Given the description of an element on the screen output the (x, y) to click on. 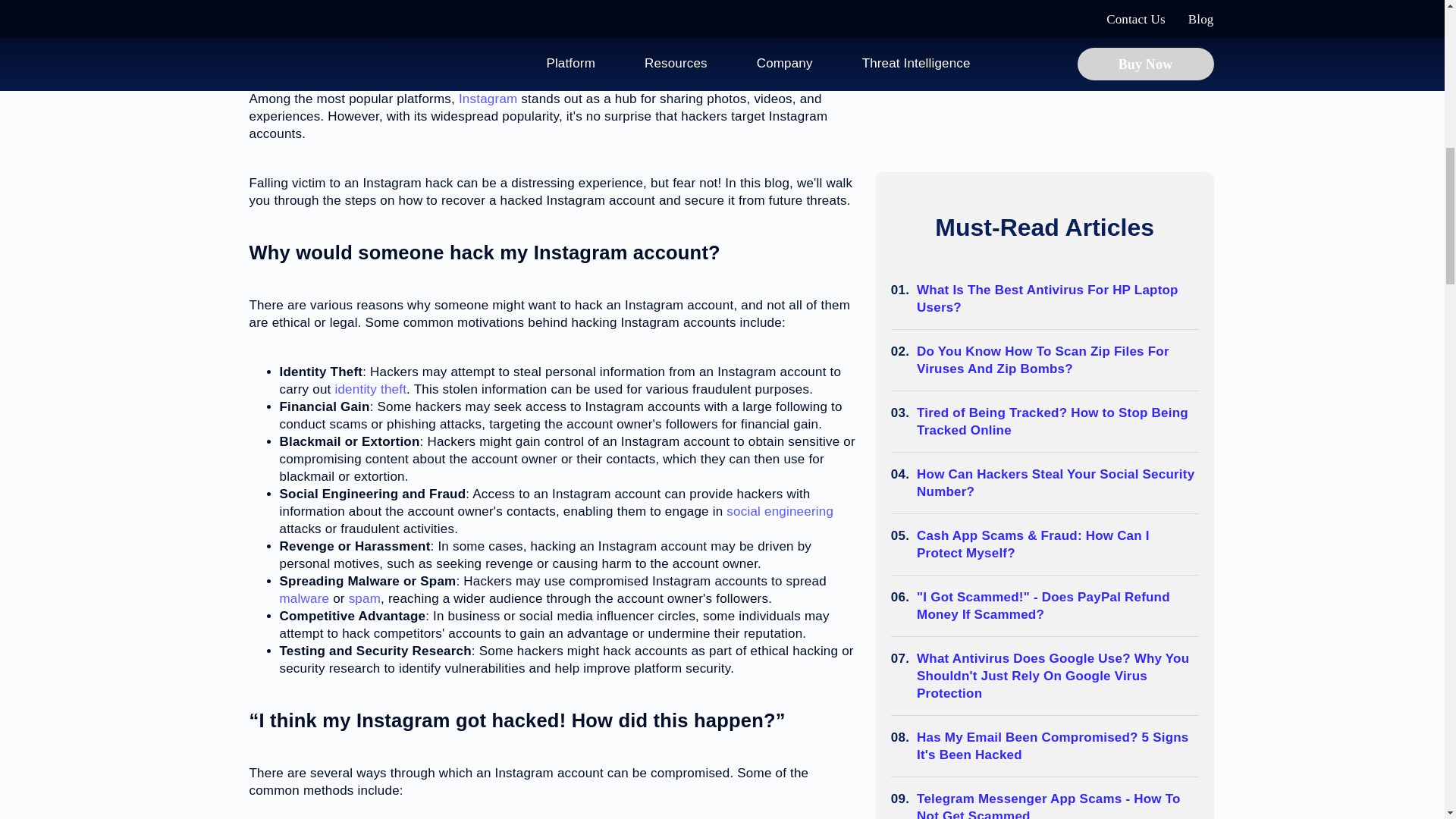
What Is The Best Antivirus For HP Laptop Users? (1057, 298)
social engineering (779, 511)
identity theft (370, 389)
Instagram (487, 98)
Tired of Being Tracked? How to Stop Being Tracked Online (1057, 421)
Has My Email Been Compromised? 5 Signs It's Been Hacked (1057, 745)
malware (304, 598)
Telegram Messenger App Scams - How To Not Get Scammed (1057, 804)
Do You Know How To Scan Zip Files For Viruses And Zip Bombs? (1057, 360)
"I Got Scammed!" - Does PayPal Refund Money If Scammed? (1057, 605)
